Given the description of an element on the screen output the (x, y) to click on. 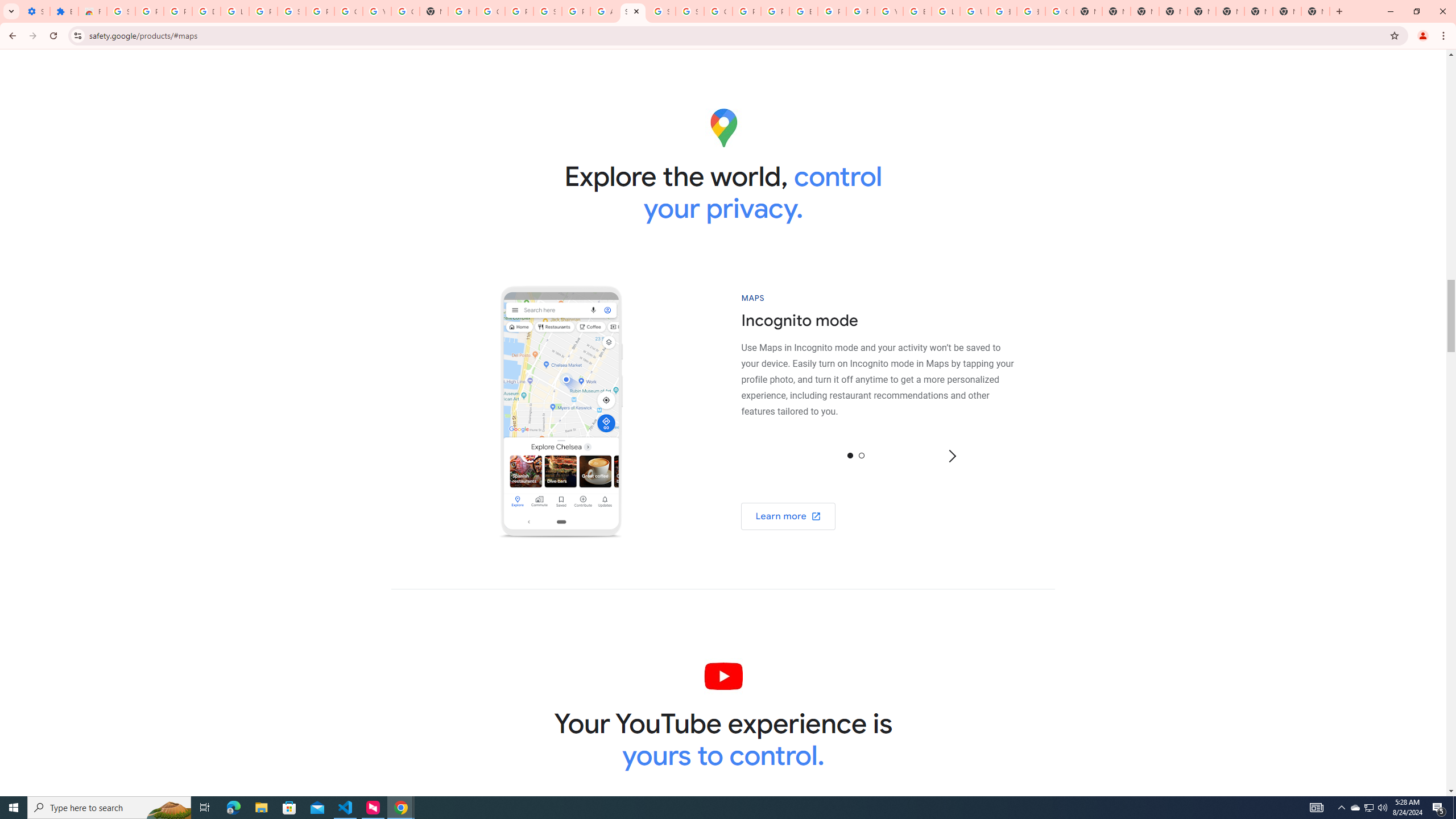
Learn how to find your photos - Google Photos Help (234, 11)
Delete photos & videos - Computer - Google Photos Help (206, 11)
Google Account (348, 11)
Sign in - Google Accounts (661, 11)
YouTube (377, 11)
Privacy Help Center - Policies Help (746, 11)
YouTube (888, 11)
Next (951, 455)
